Given the description of an element on the screen output the (x, y) to click on. 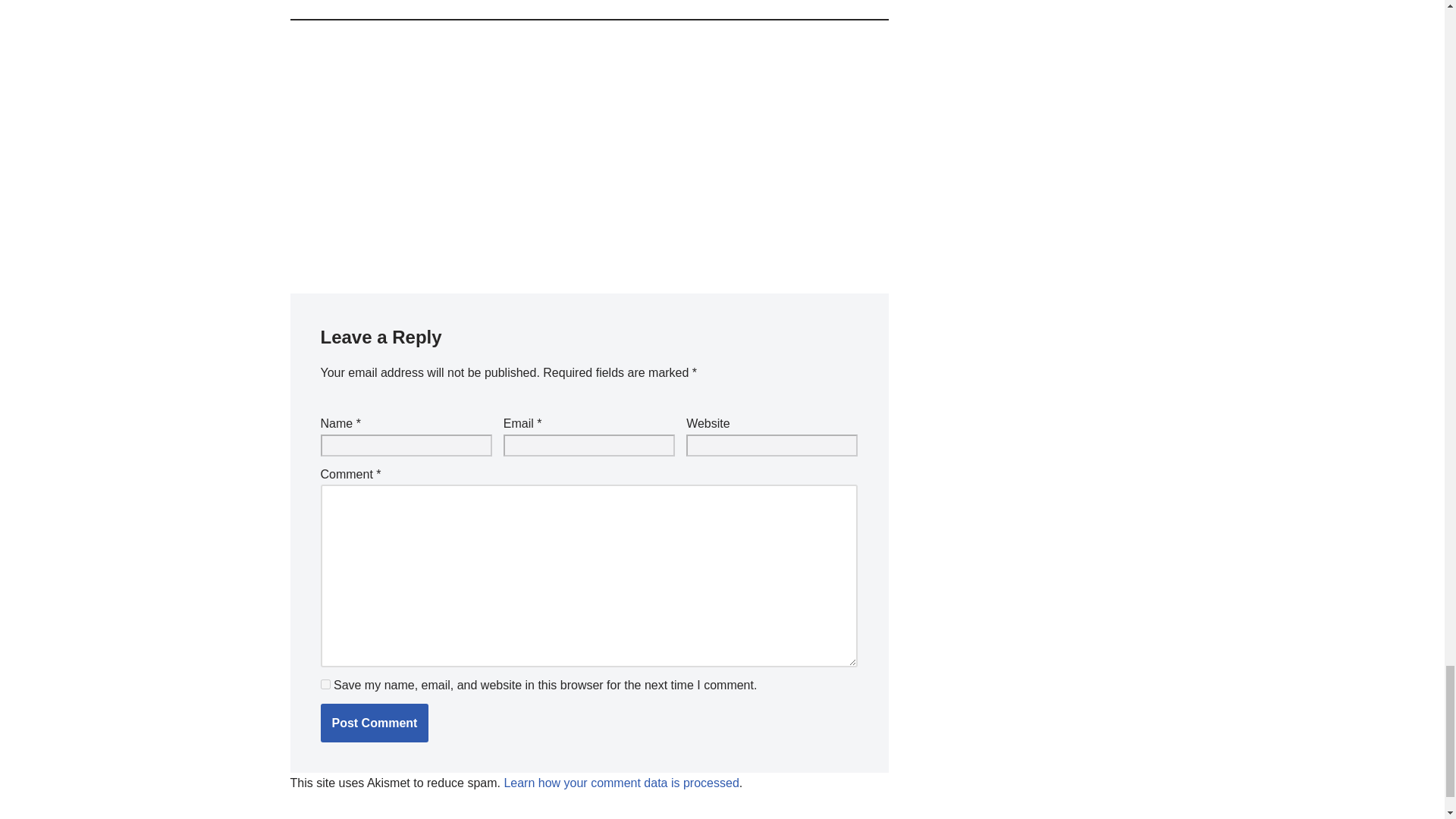
Post Comment (374, 722)
Post Comment (374, 722)
yes (325, 684)
Learn how your comment data is processed (620, 782)
